Given the description of an element on the screen output the (x, y) to click on. 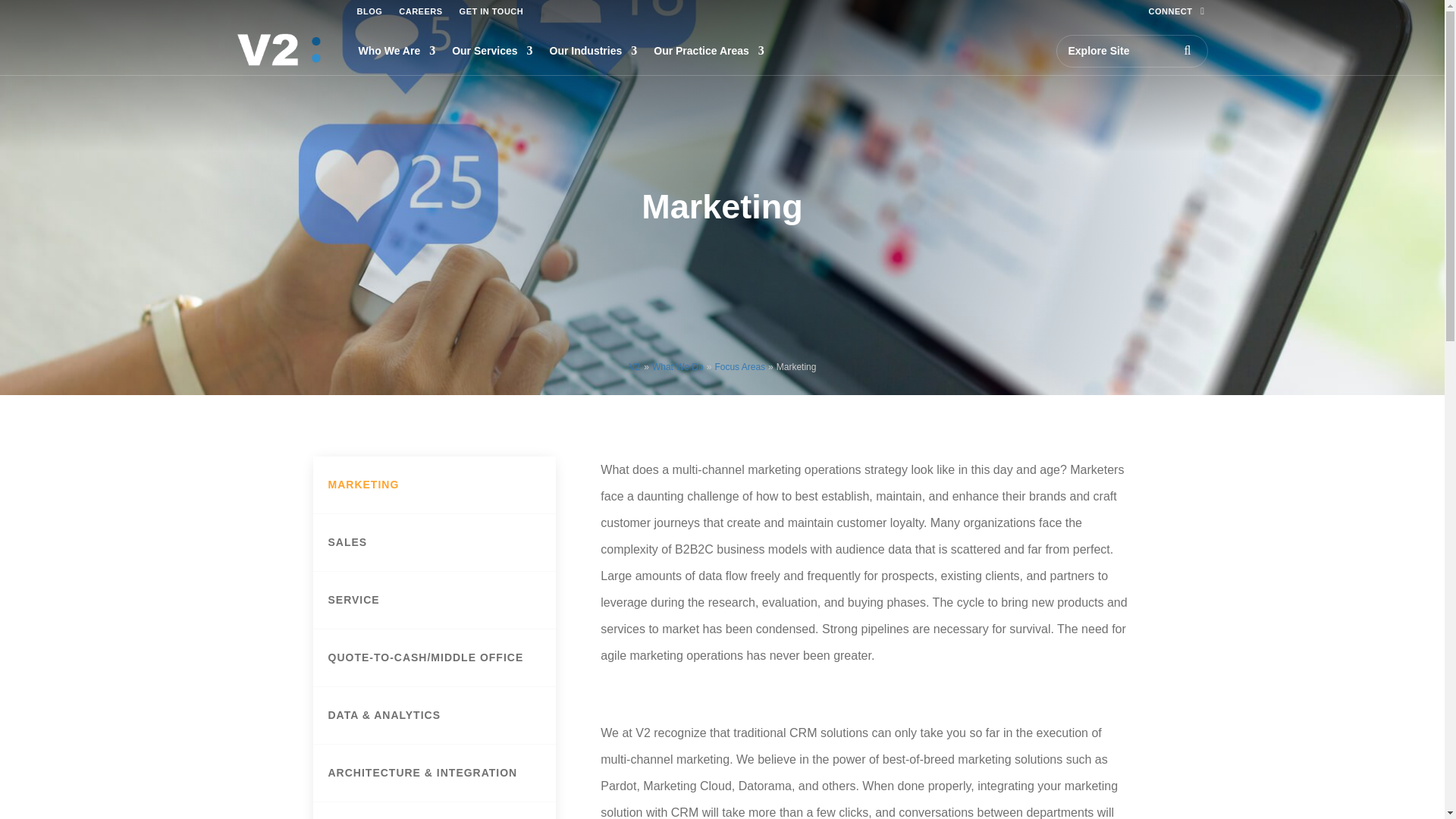
Who We Are (396, 50)
GET IN TOUCH (492, 10)
BLOG (368, 10)
CAREERS (420, 10)
Our Practice Areas (708, 50)
Our Services (491, 50)
Marketing (796, 366)
Our Industries (593, 50)
What We Do (677, 366)
CONNECT (1178, 13)
Focus Areas (739, 366)
